Given the description of an element on the screen output the (x, y) to click on. 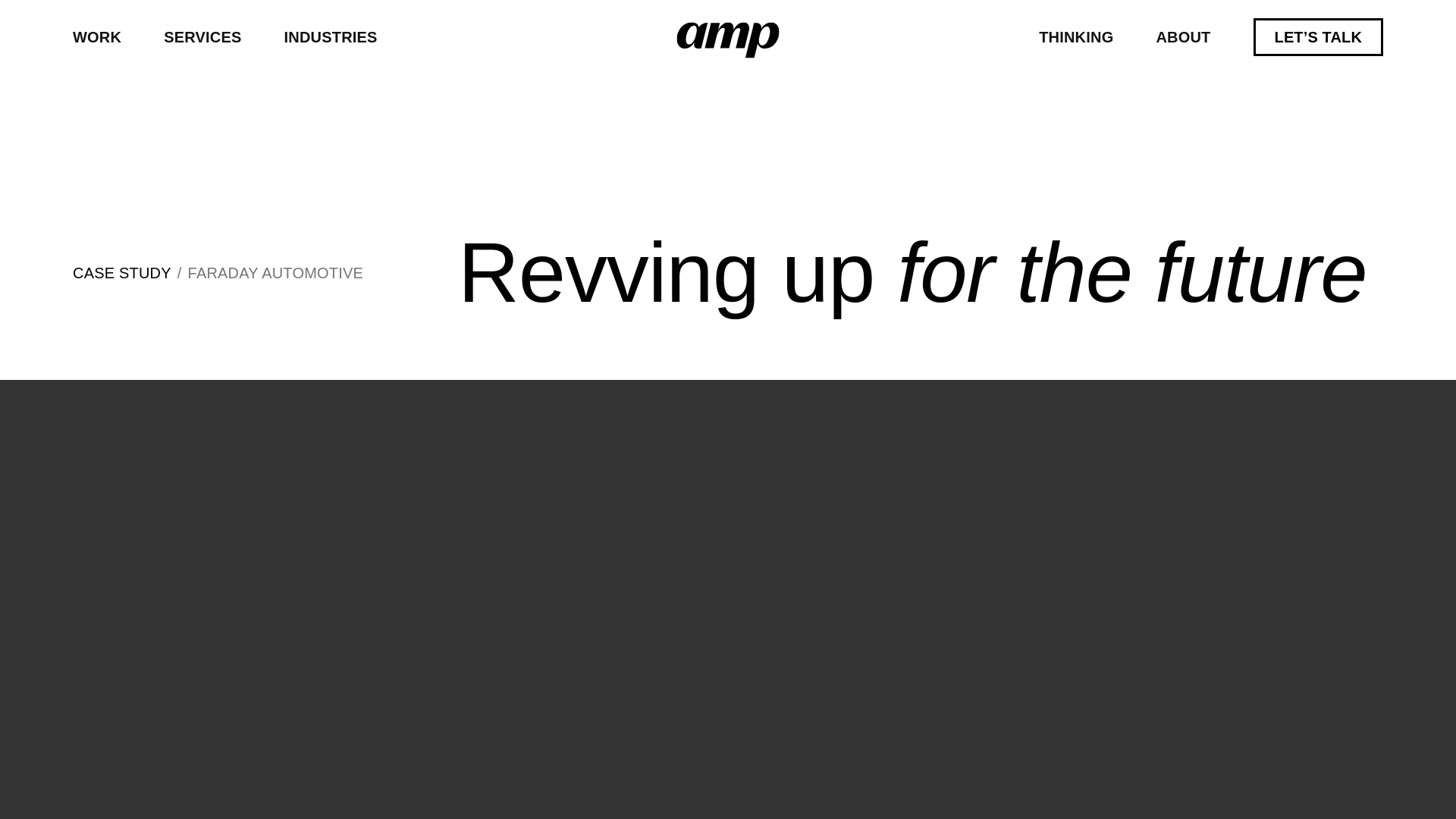
CASE STUDY (121, 272)
SERVICES (202, 37)
WORK (96, 37)
THINKING (1076, 37)
Go to the homepage (727, 39)
INDUSTRIES (330, 37)
ABOUT (1182, 37)
